Given the description of an element on the screen output the (x, y) to click on. 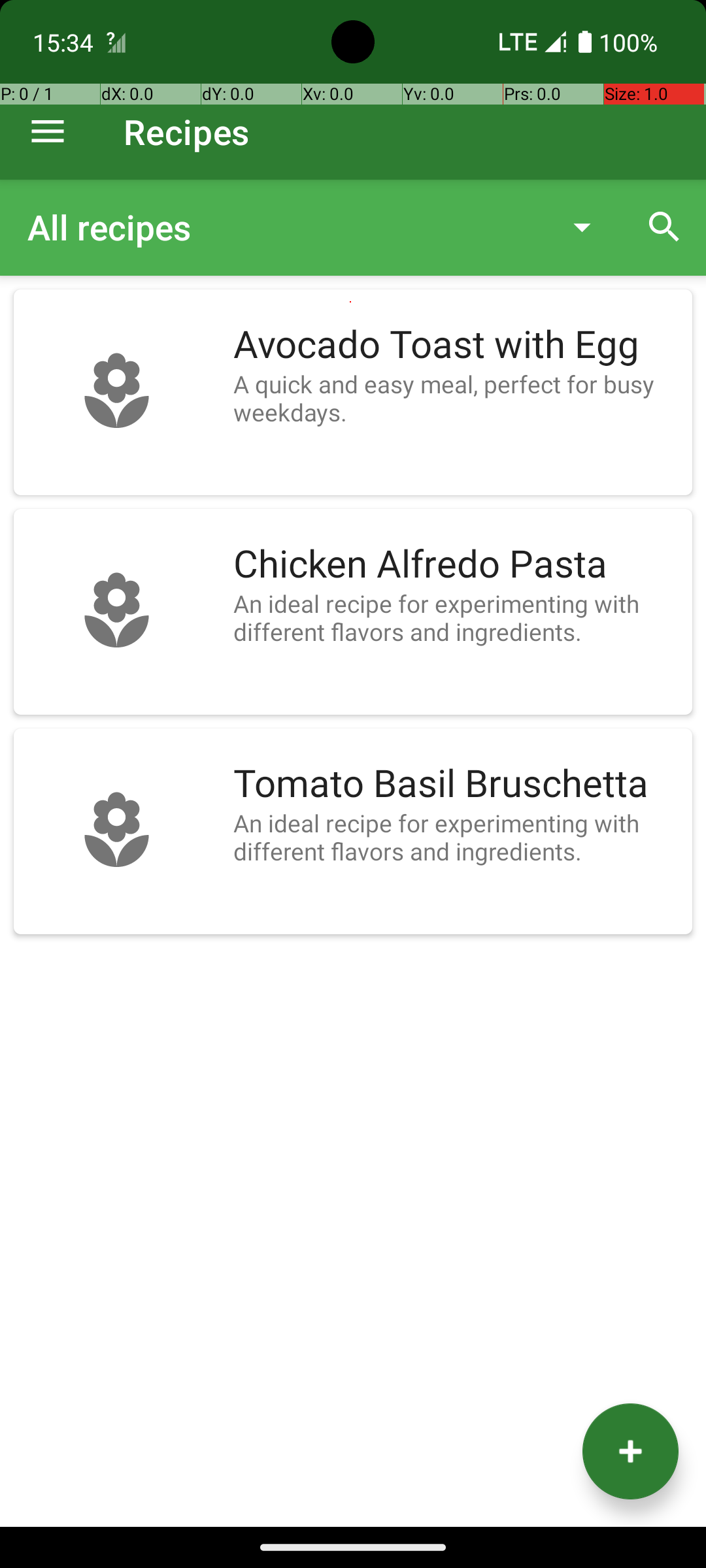
Tomato Basil Bruschetta Element type: android.widget.TextView (455, 783)
